Given the description of an element on the screen output the (x, y) to click on. 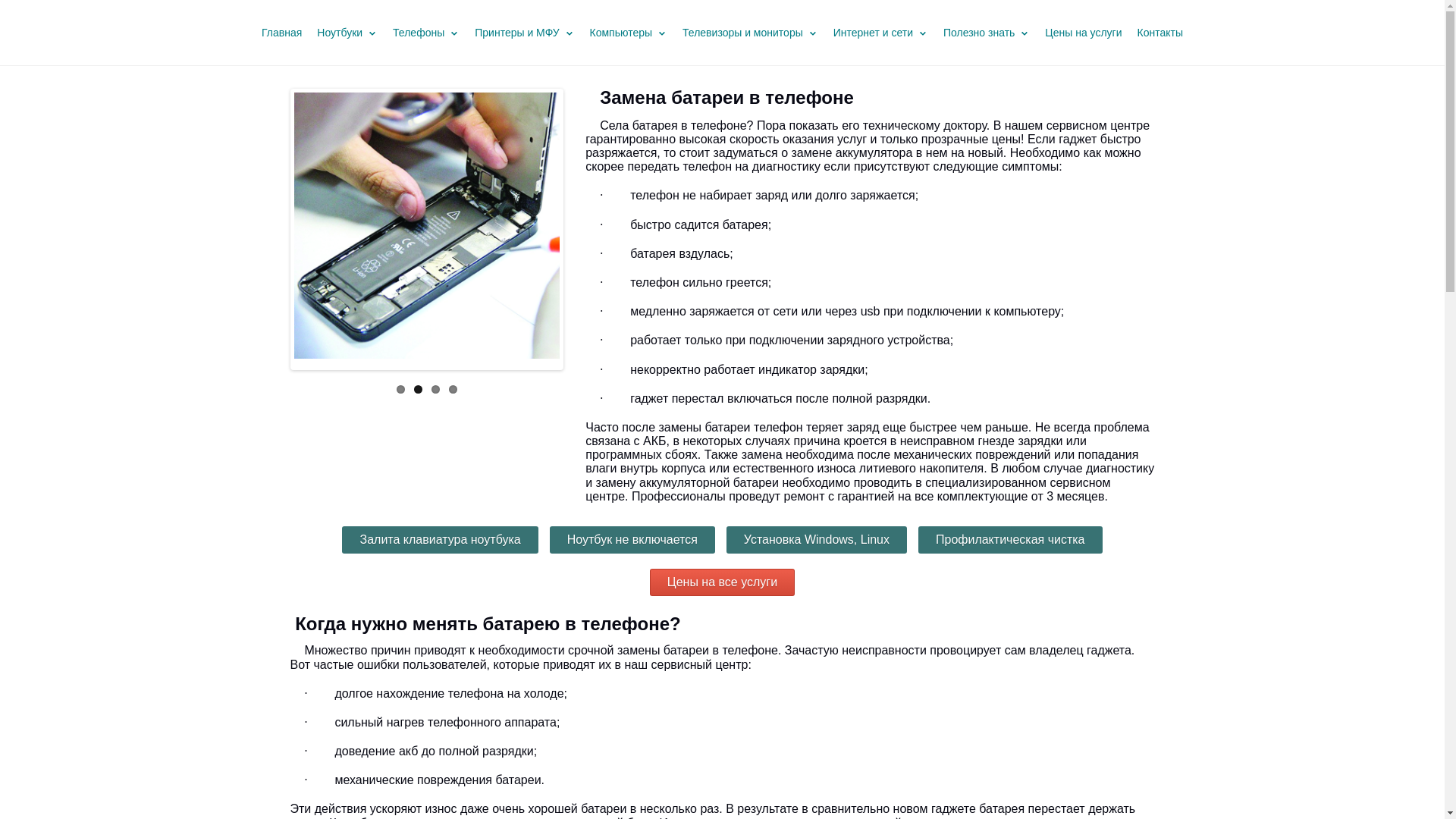
zamena_akb3 Element type: hover (426, 225)
4 Element type: text (452, 389)
3 Element type: text (435, 389)
1 Element type: text (400, 389)
2 Element type: text (418, 389)
